Given the description of an element on the screen output the (x, y) to click on. 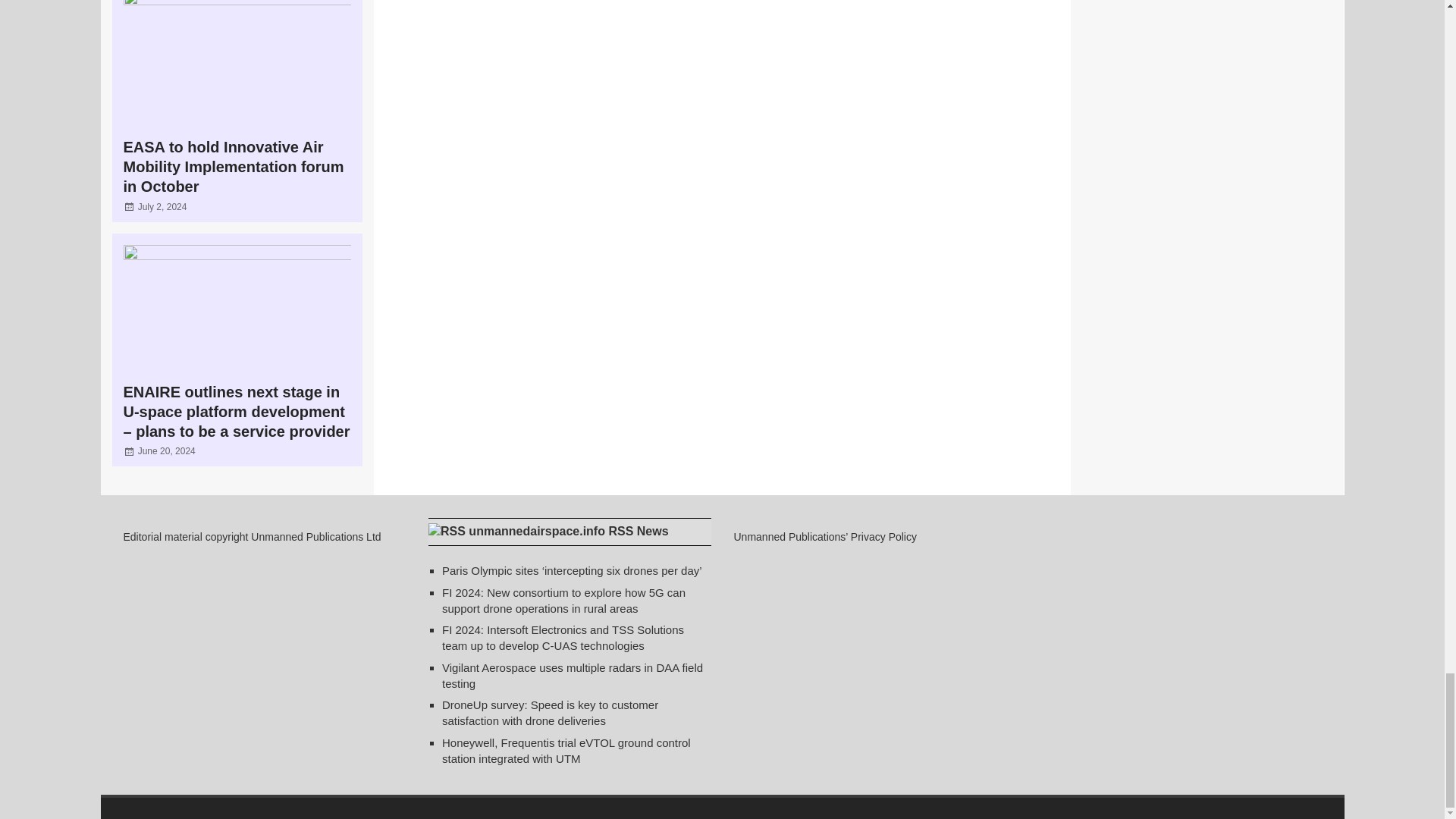
1:23 pm (166, 450)
12:16 pm (162, 206)
